Given the description of an element on the screen output the (x, y) to click on. 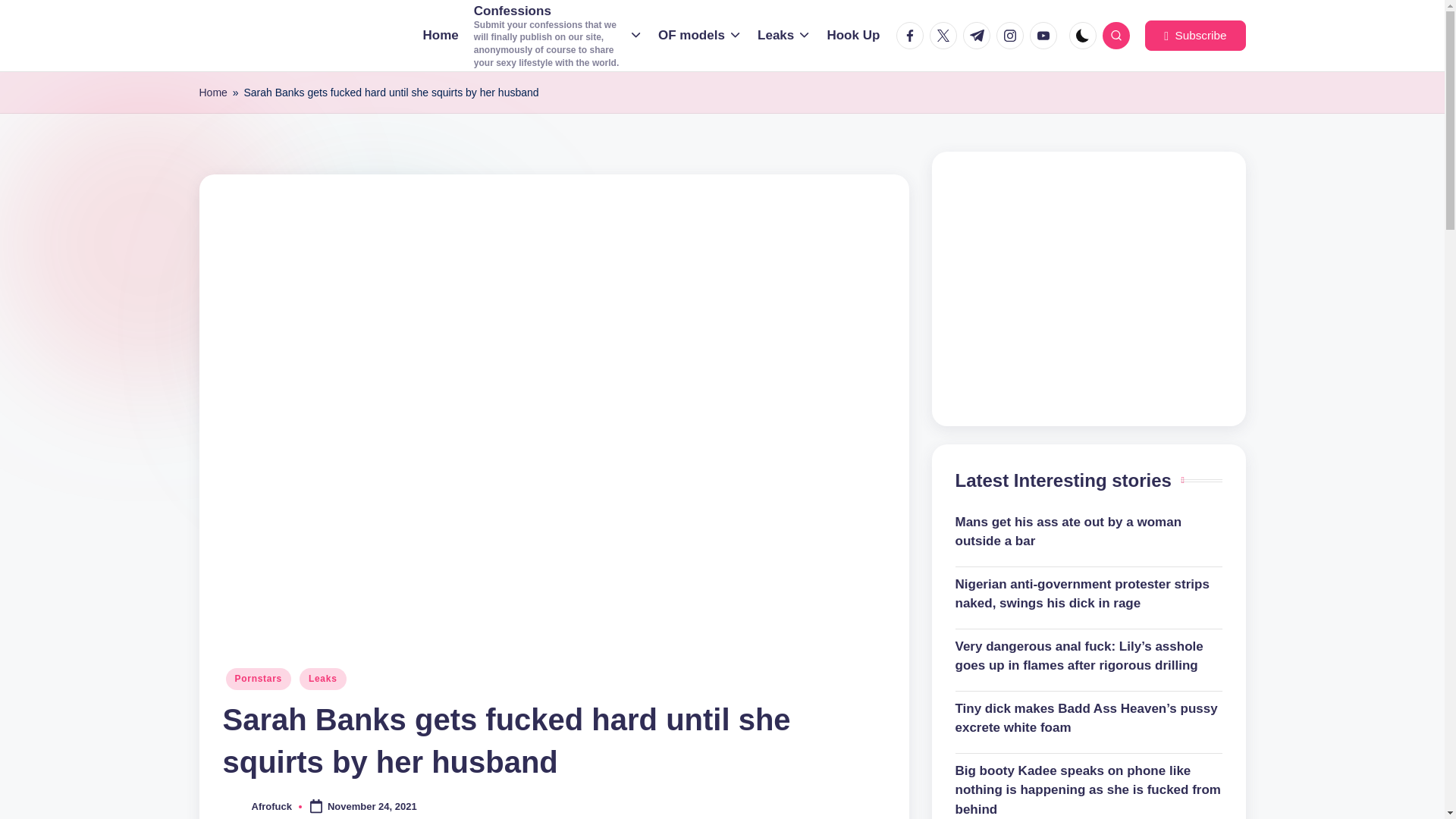
Afrofuck (271, 806)
Hook Up (853, 35)
View all posts by Afrofuck (271, 806)
Leaks (783, 35)
twitter.com (946, 35)
Pornstars (258, 678)
Home (212, 92)
Home (440, 35)
youtube.com (1045, 35)
Subscribe (1194, 35)
